Given the description of an element on the screen output the (x, y) to click on. 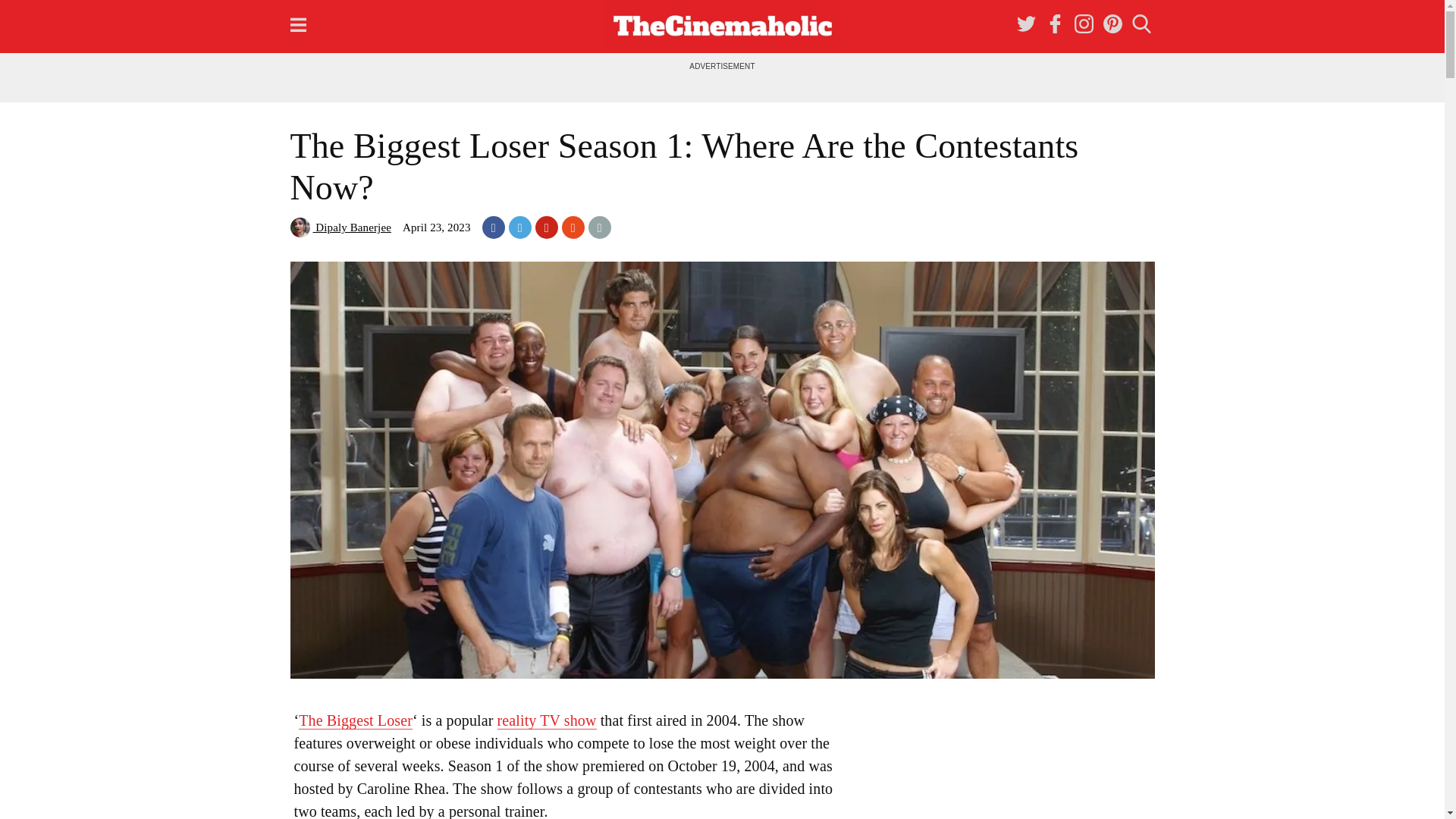
The Biggest Loser (355, 720)
Dipaly Banerjee (339, 227)
reality TV show (546, 720)
